Given the description of an element on the screen output the (x, y) to click on. 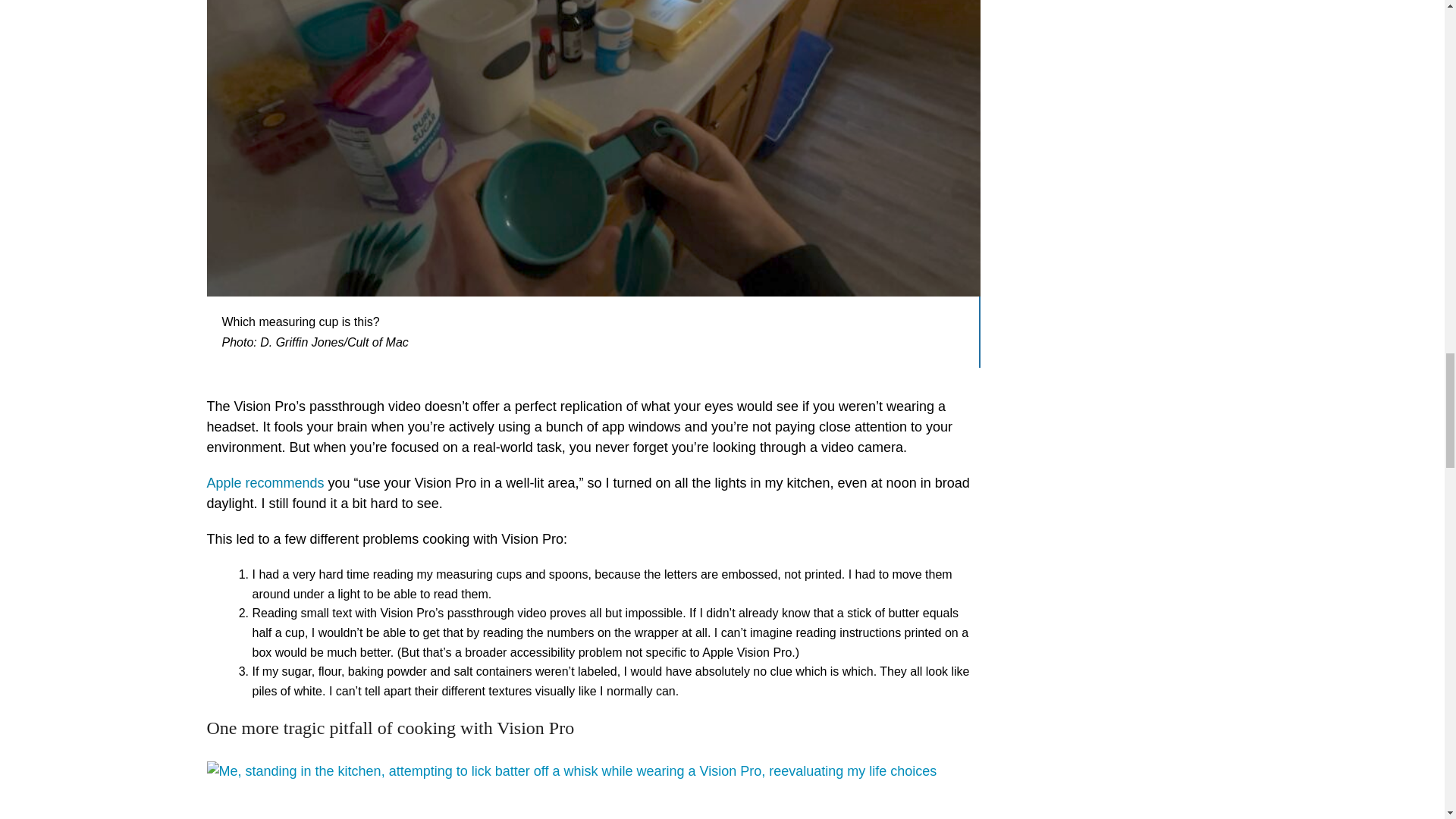
Trying to Lick a Whisk of Batter with a Vision Pro (592, 790)
